Given the description of an element on the screen output the (x, y) to click on. 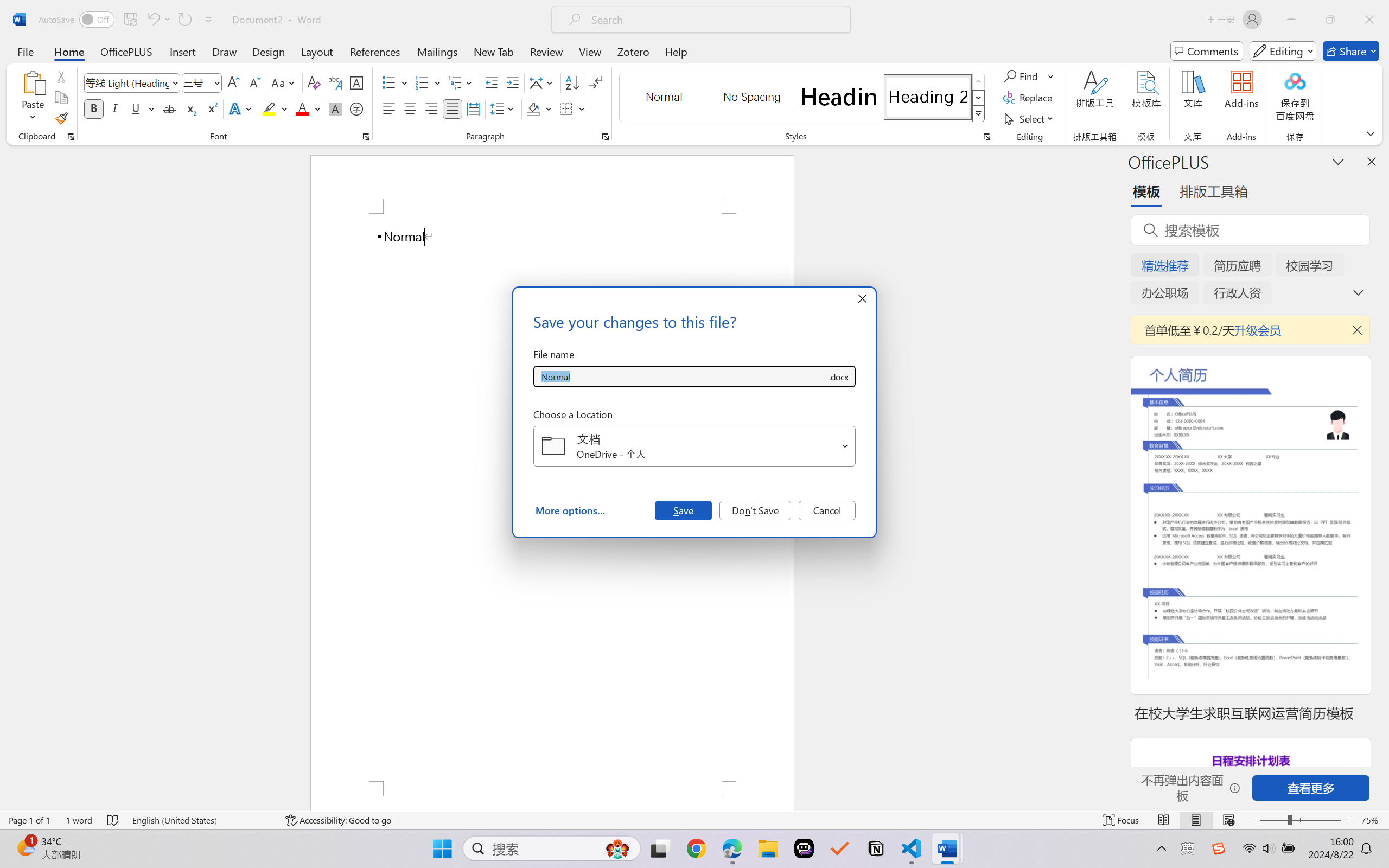
Align Left (388, 108)
Underline (142, 108)
Home (69, 51)
Format Painter (60, 118)
Line and Paragraph Spacing (503, 108)
Borders (566, 108)
Align Right (431, 108)
Page Number Page 1 of 1 (29, 819)
Styles... (986, 136)
